Given the description of an element on the screen output the (x, y) to click on. 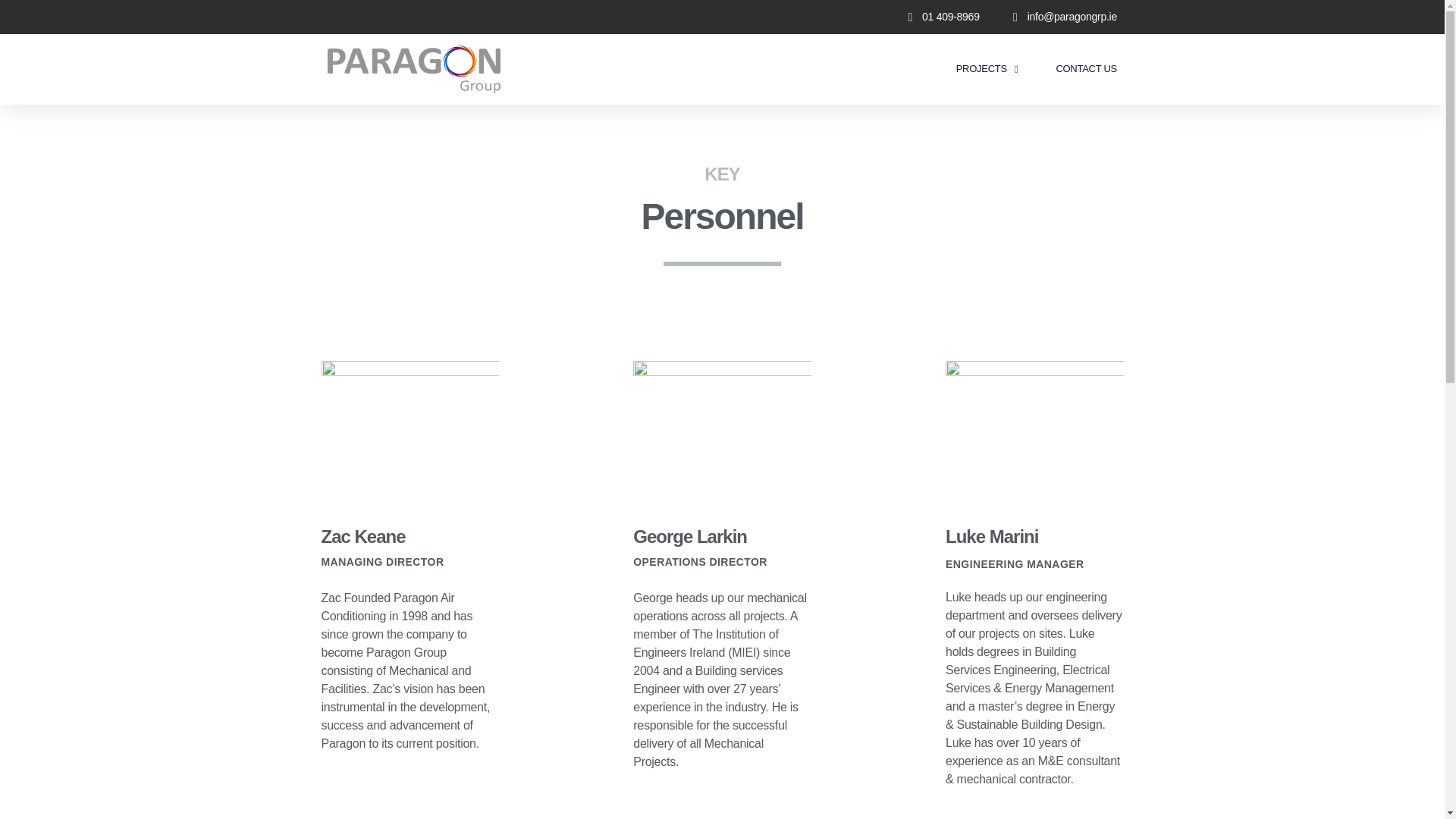
PROJECTS (986, 68)
01 409-8969 (937, 17)
CONTACT US (1085, 68)
